Given the description of an element on the screen output the (x, y) to click on. 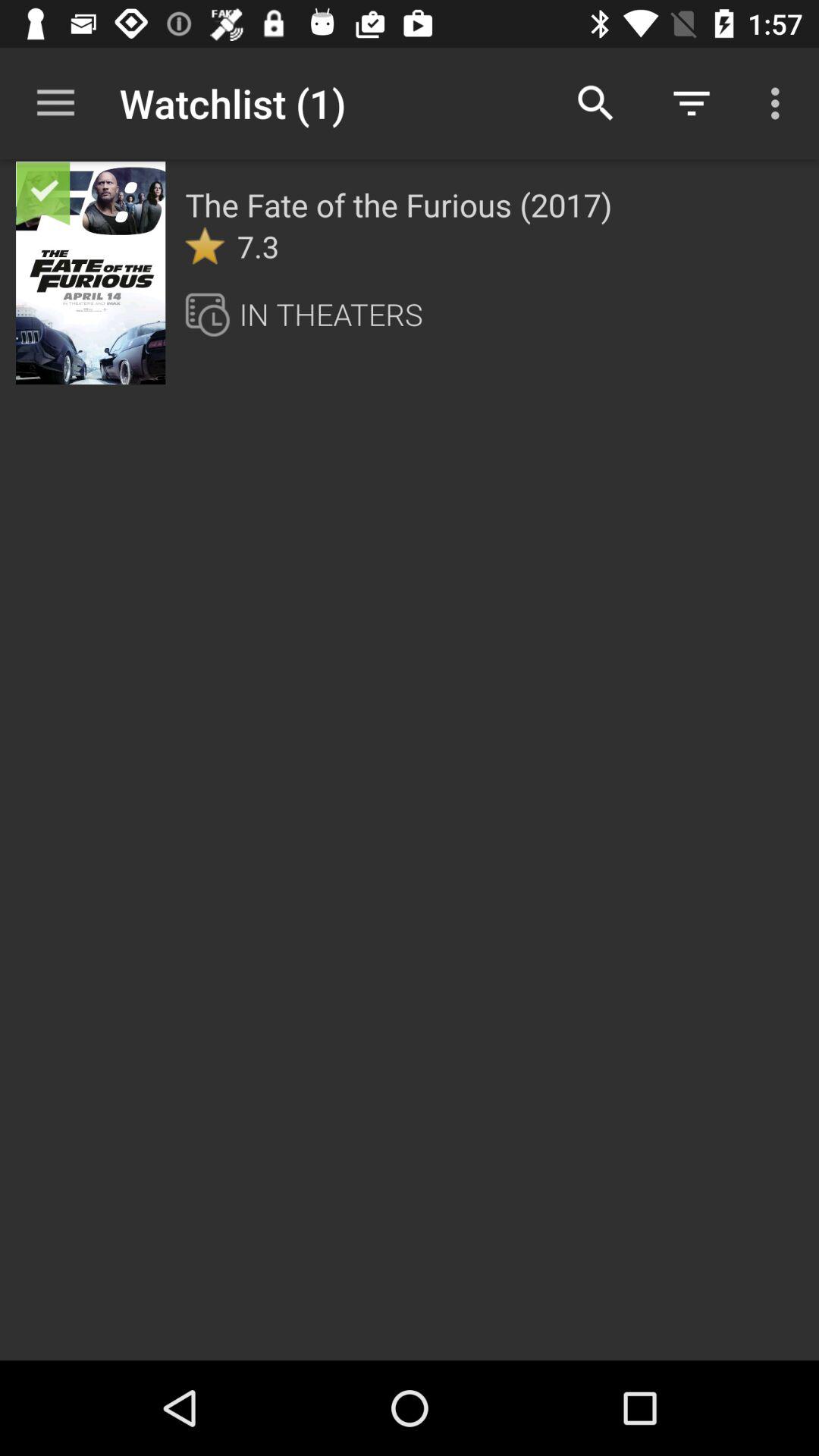
click the icon to the left of the the fate of item (134, 191)
